Given the description of an element on the screen output the (x, y) to click on. 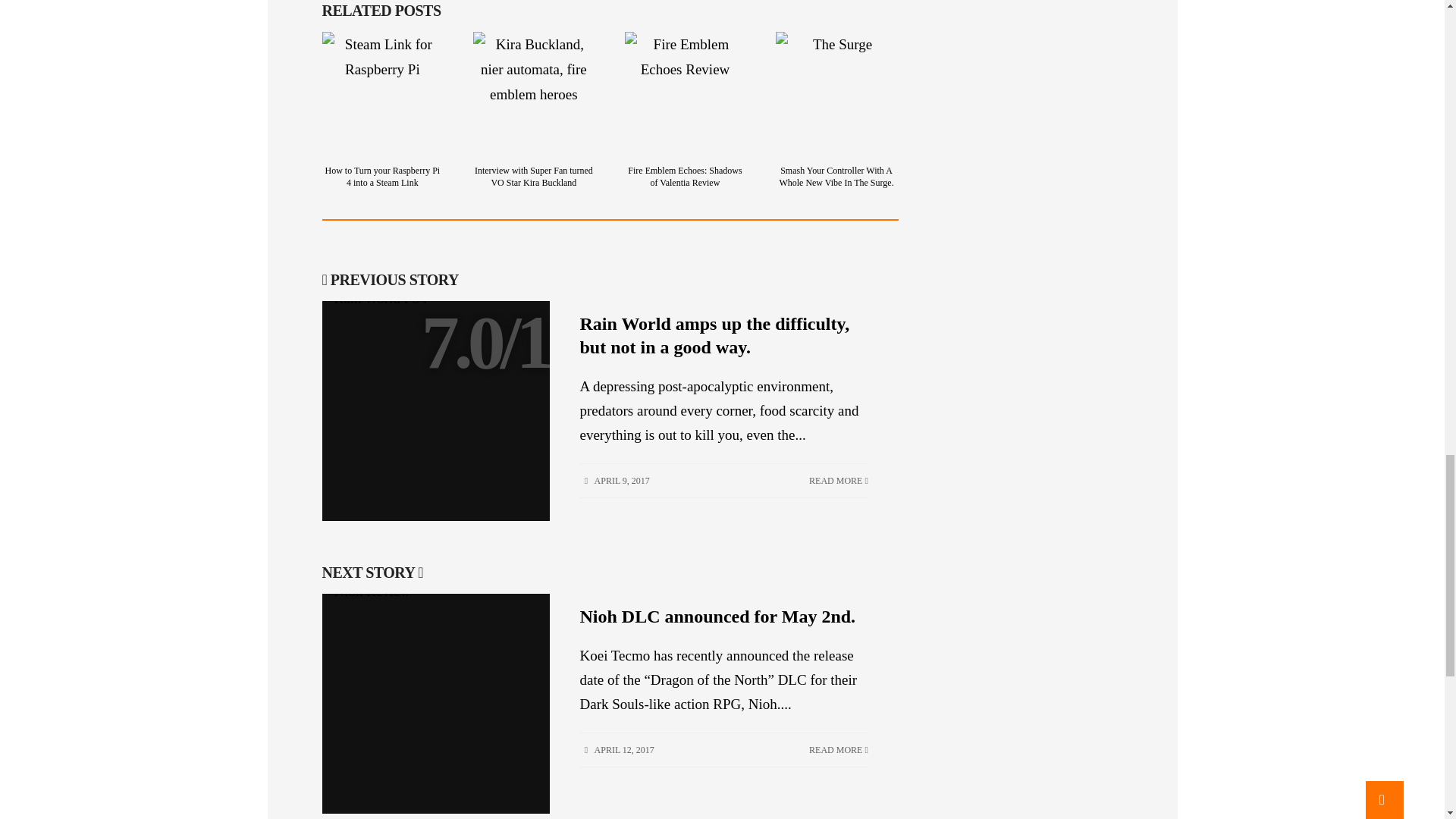
How to Turn your Raspberry Pi 4 into a Steam Link (381, 92)
Smash Your Controller With A Whole New Vibe In The Surge. (835, 176)
Fire Emblem Echoes: Shadows of Valentia Review (684, 92)
Smash Your Controller With A Whole New Vibe In The Surge. (836, 92)
Fire Emblem Echoes: Shadows of Valentia Review (684, 176)
How to Turn your Raspberry Pi 4 into a Steam Link (381, 176)
Interview with Super Fan turned VO Star Kira Buckland (533, 176)
Interview with Super Fan turned VO Star Kira Buckland (533, 92)
